Given the description of an element on the screen output the (x, y) to click on. 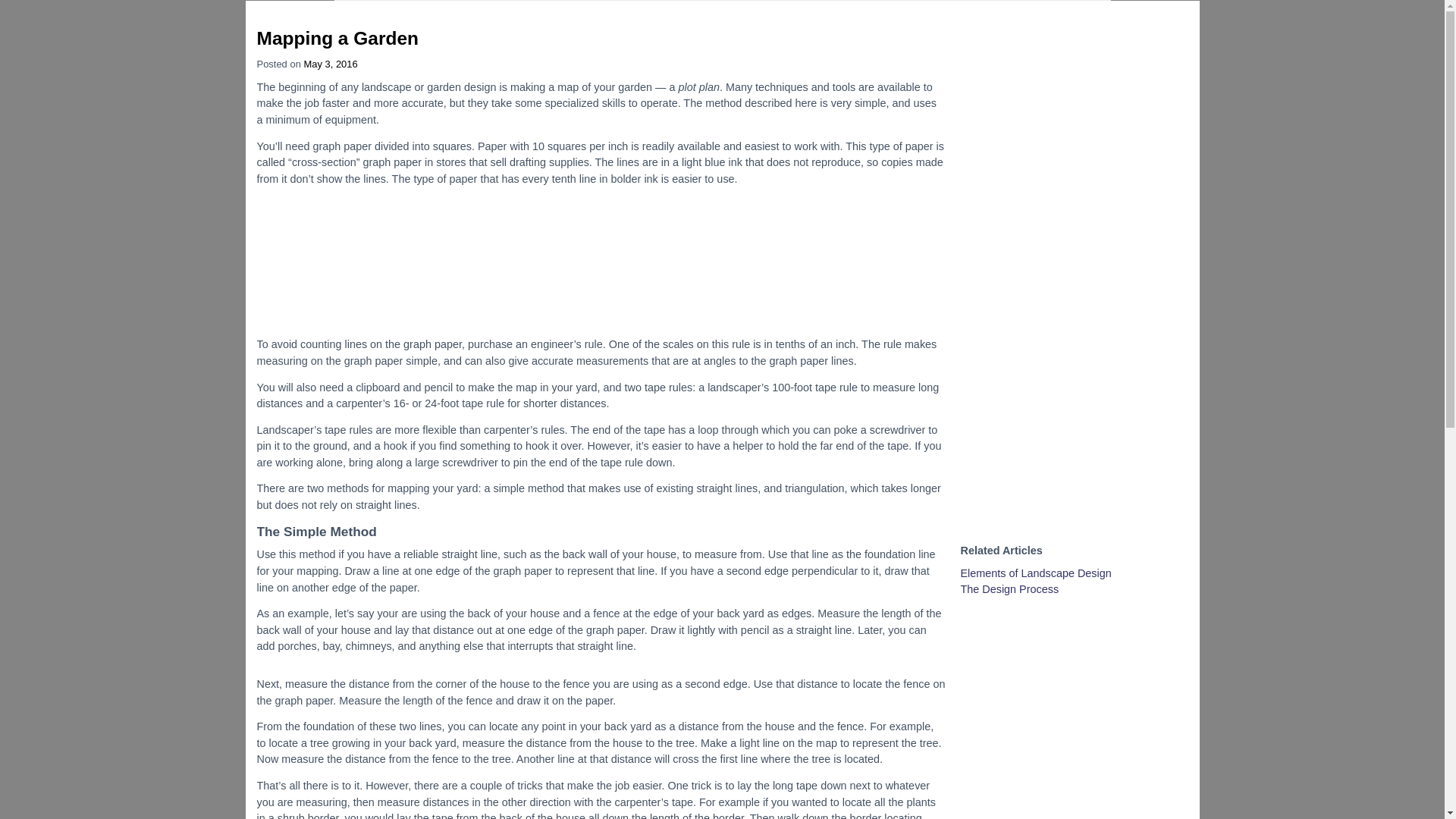
Advertisement (1073, 303)
Advertisement (601, 261)
2:15 pm (329, 63)
The Design Process (1008, 589)
May 3, 2016 (329, 63)
Elements of Landscape Design (1034, 573)
Mapping a Garden (336, 37)
Permalink to Mapping a Garden (336, 37)
